Given the description of an element on the screen output the (x, y) to click on. 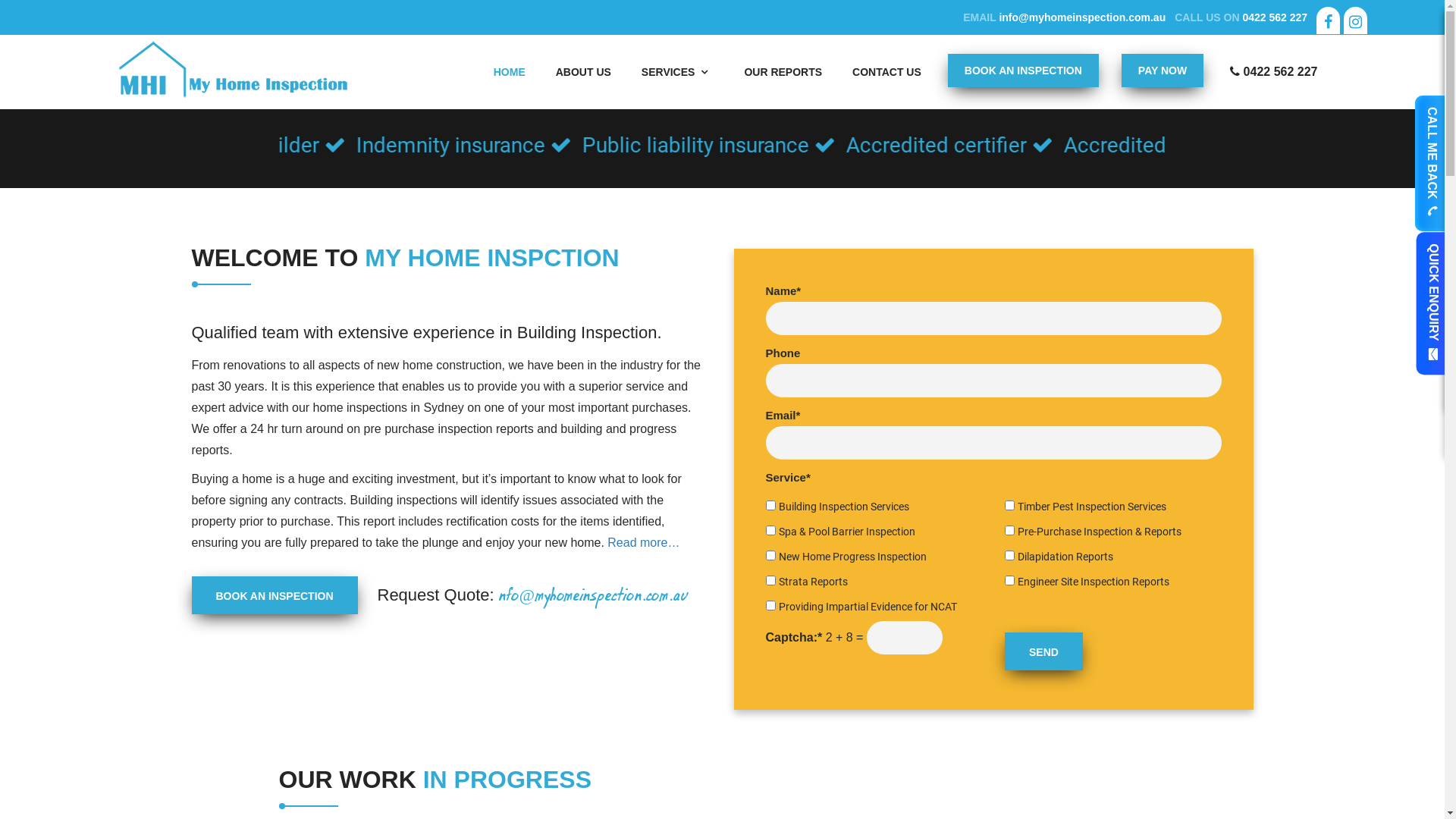
SEND Element type: text (1043, 651)
BOOK AN INSPECTION Element type: text (1023, 70)
BOOK AN INSPECTION Element type: text (274, 595)
PAY NOW Element type: text (1162, 70)
BOOK AN INSPECTION Element type: text (1022, 70)
OUR REPORTS Element type: text (782, 71)
0422 562 227 Element type: text (1273, 71)
SERVICES Element type: text (677, 71)
HOME Element type: text (509, 71)
0422 562 227 Element type: text (1274, 17)
ABOUT US Element type: text (583, 71)
PAY NOW Element type: text (1162, 70)
CONTACT US Element type: text (886, 71)
info@myhomeinspection.com.au Element type: text (1081, 17)
